Given the description of an element on the screen output the (x, y) to click on. 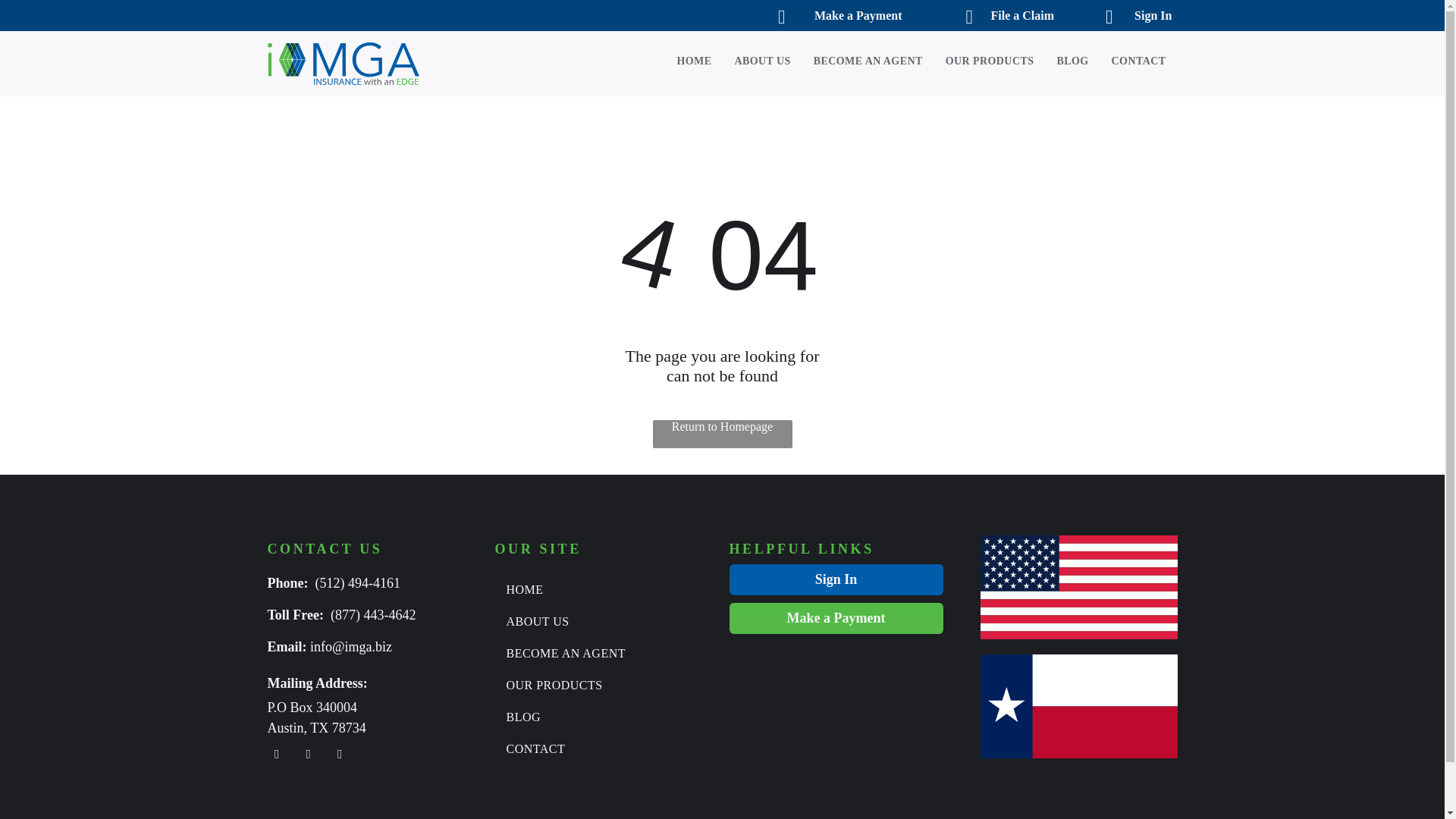
BLOG (596, 717)
OUR PRODUCTS (596, 685)
HOME (596, 590)
CONTACT (1127, 61)
BLOG (1060, 61)
Return to Homepage (722, 433)
Sign In (836, 579)
BECOME AN AGENT (596, 653)
CONTACT (596, 748)
HOME (682, 61)
Make a Payment (826, 15)
OUR PRODUCTS (978, 61)
ABOUT US (750, 61)
ABOUT US (596, 622)
Sign In (1125, 15)
